Given the description of an element on the screen output the (x, y) to click on. 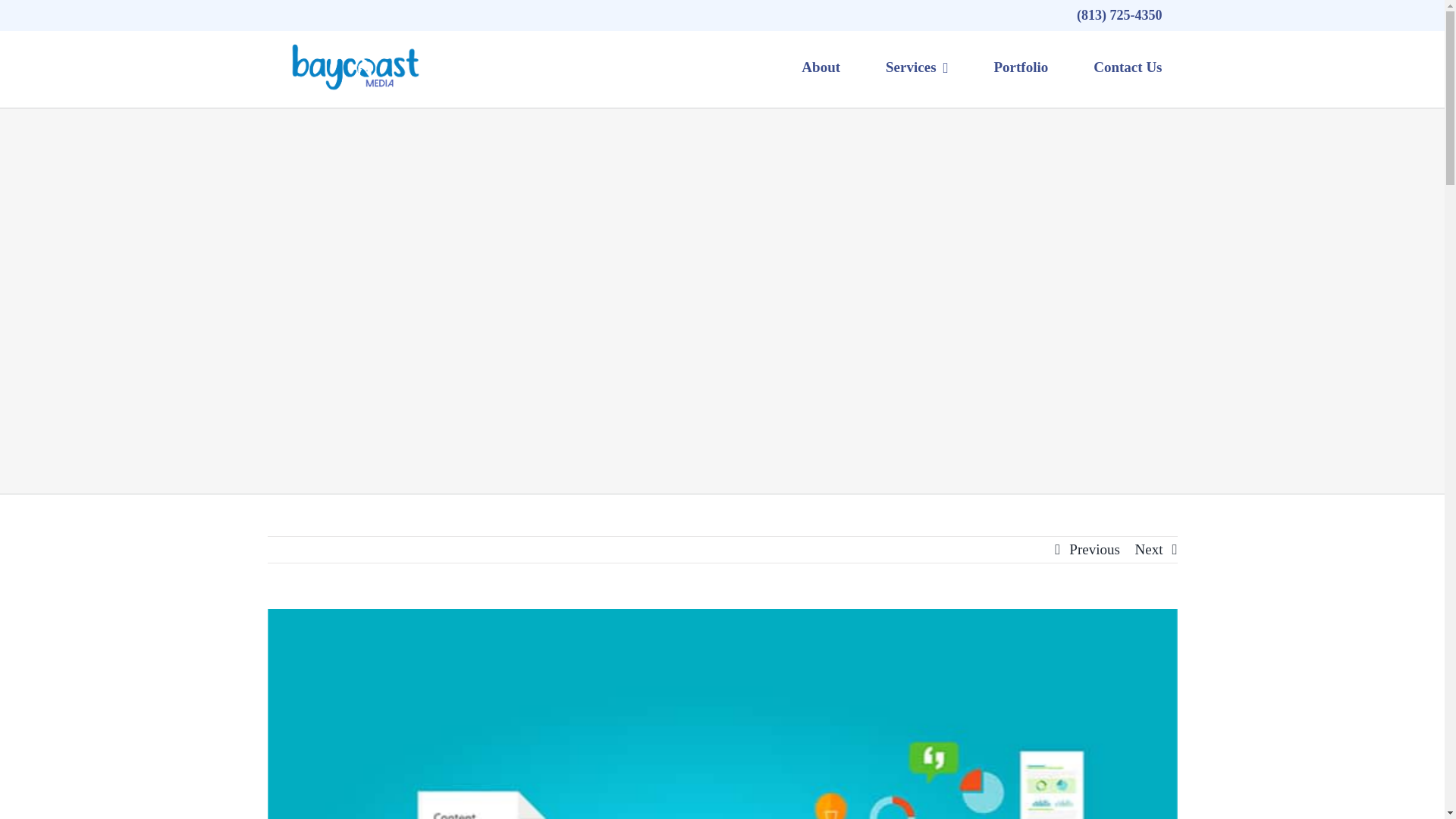
Next (1149, 549)
Previous (1093, 549)
Contact Us (1127, 67)
